Given the description of an element on the screen output the (x, y) to click on. 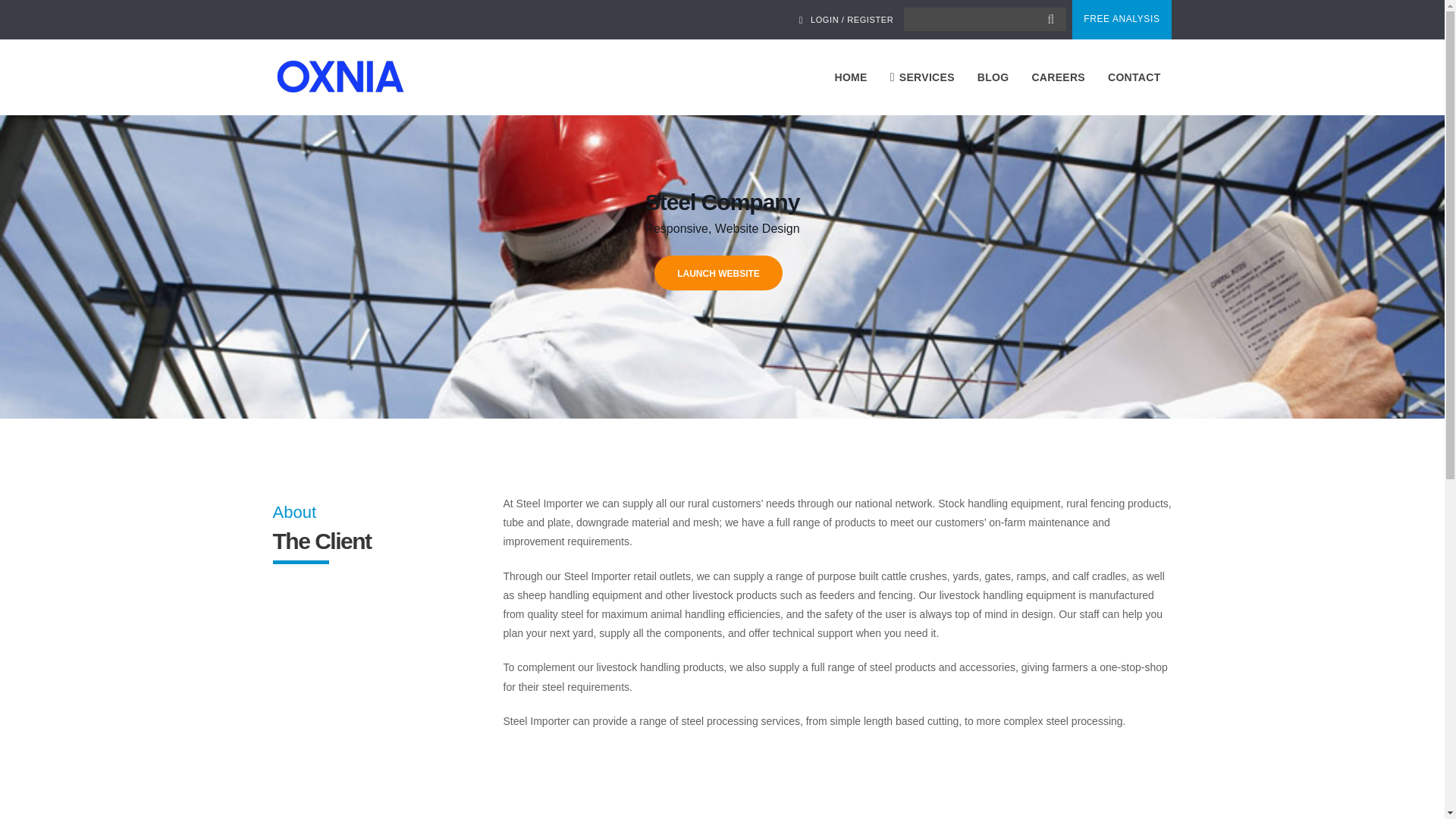
FREE ANALYSIS (1120, 19)
CAREERS (1058, 77)
LAUNCH WEBSITE (718, 272)
CONTACT (1134, 77)
SERVICES (922, 77)
